Given the description of an element on the screen output the (x, y) to click on. 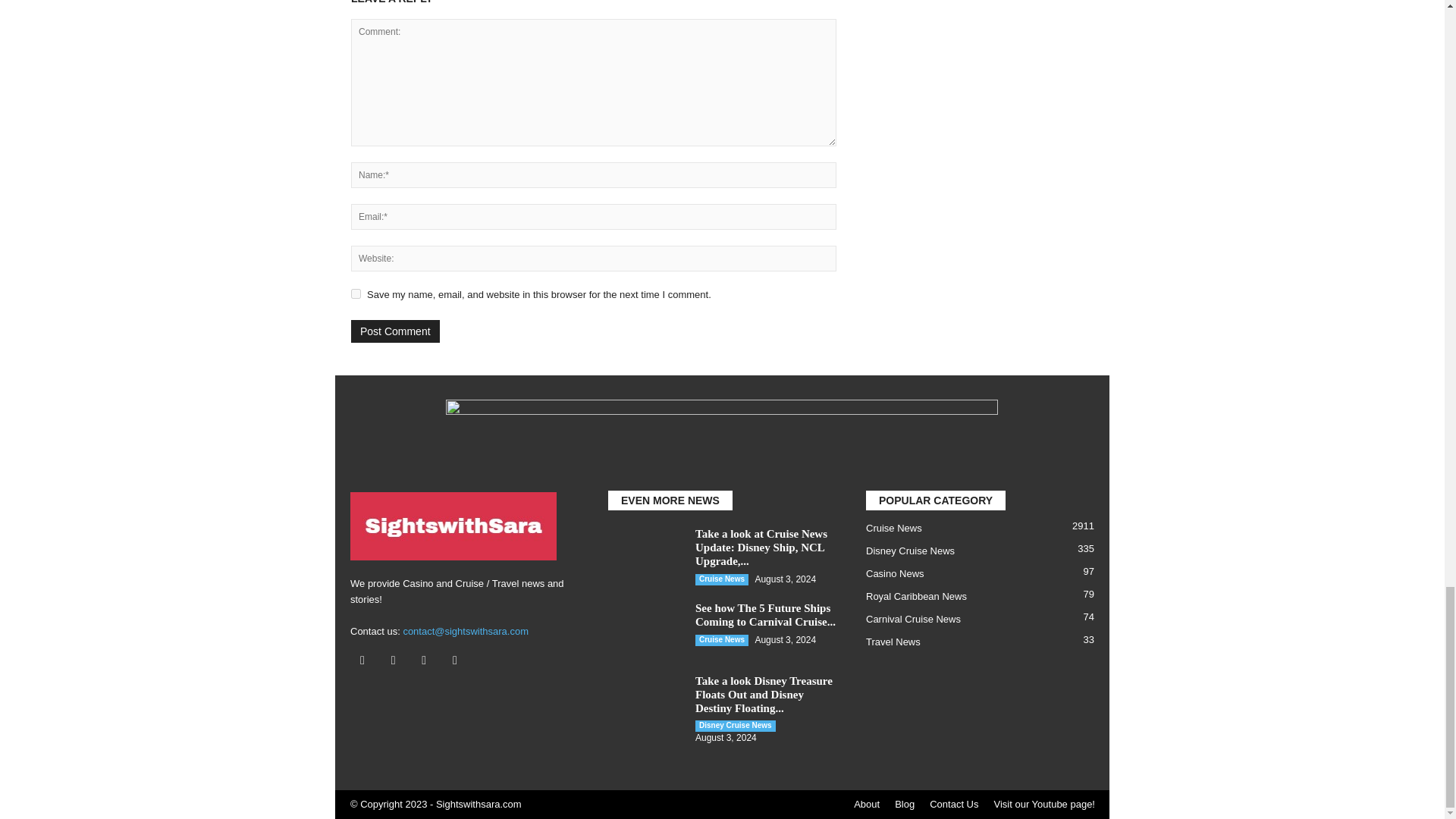
yes (355, 293)
Post Comment (394, 331)
